Given the description of an element on the screen output the (x, y) to click on. 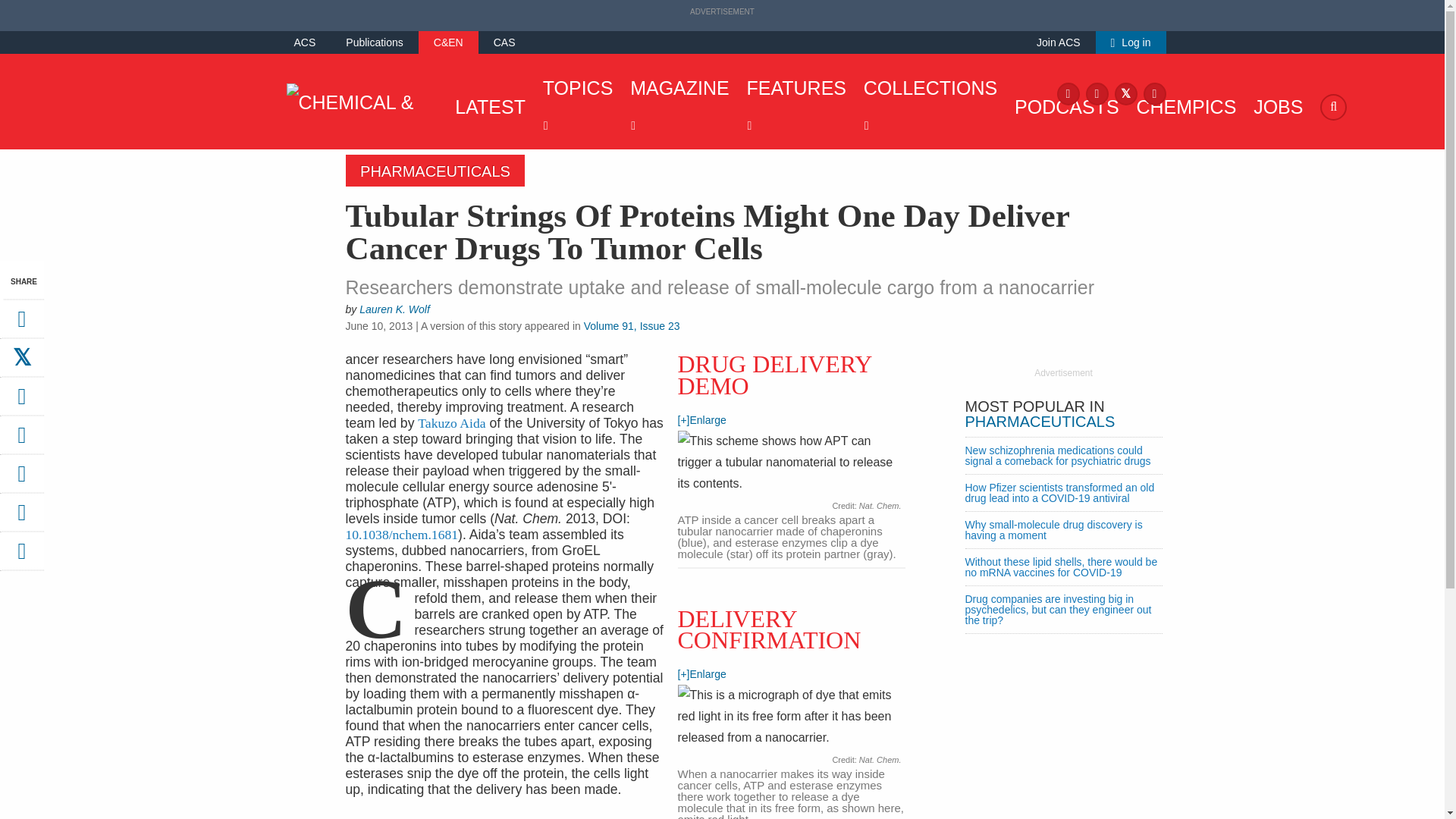
ACS (304, 42)
Takuzo Aida (450, 422)
Log in (1130, 42)
TOPICS (573, 106)
LATEST (485, 106)
CAS (504, 42)
Join ACS (1058, 42)
Facebook (1068, 92)
